Given the description of an element on the screen output the (x, y) to click on. 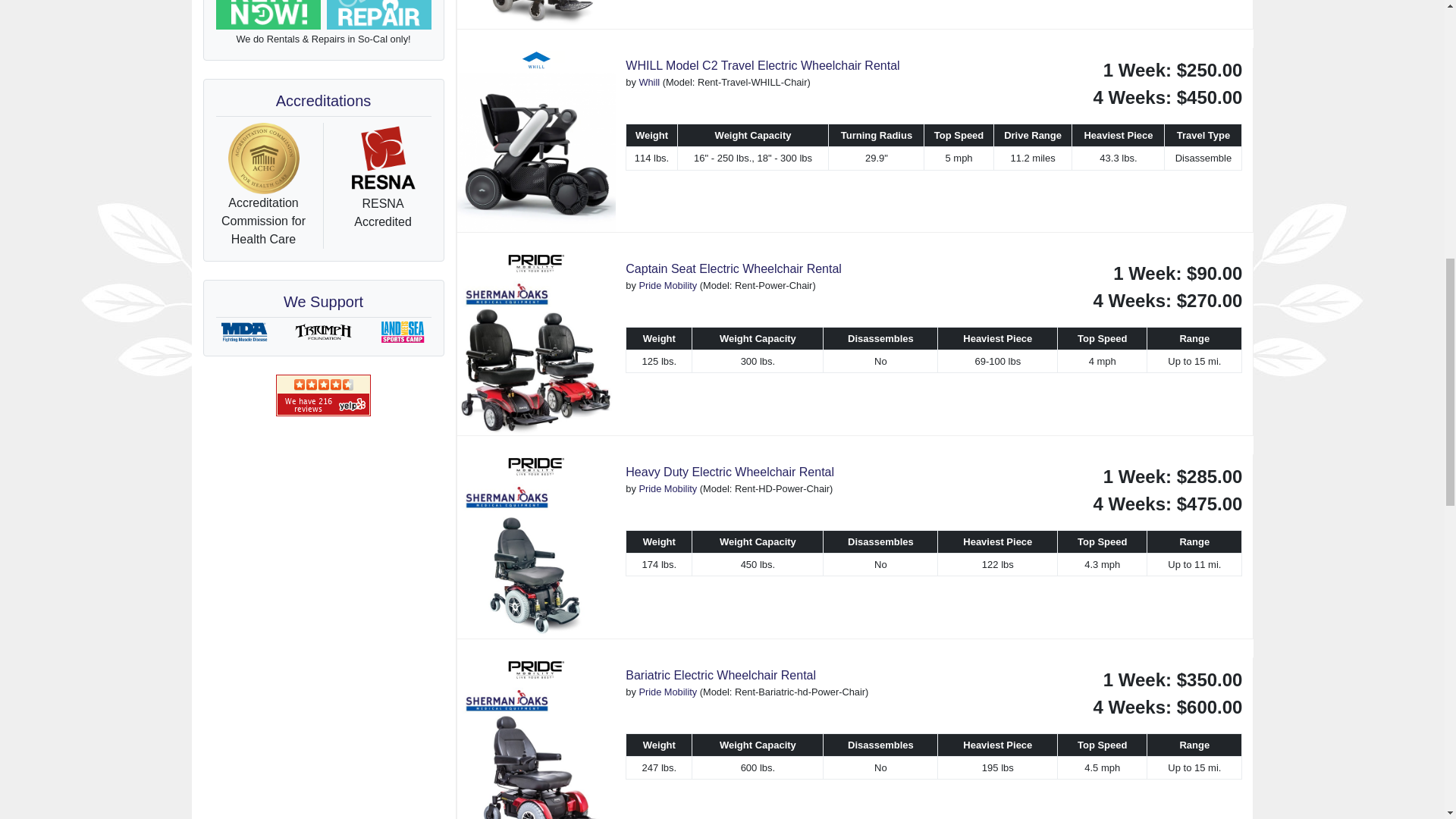
Land Meets Sea Sports Camp (402, 332)
Medical Equipment Rentals (267, 15)
WHILL Model C2 Travel Electric Wheelchair Rental (536, 139)
Captain Seat Electric Wheelchair Rental (536, 342)
Medical Equipment Repair (378, 15)
Heavy Duty Electric Wheelchair Rental (536, 546)
Bariatric Electric Wheelchair Rental (536, 738)
Accreditation Commission for Health Care (263, 158)
RESNA Accredited (382, 158)
Travel Electric Wheelchair Rental (536, 14)
